Given the description of an element on the screen output the (x, y) to click on. 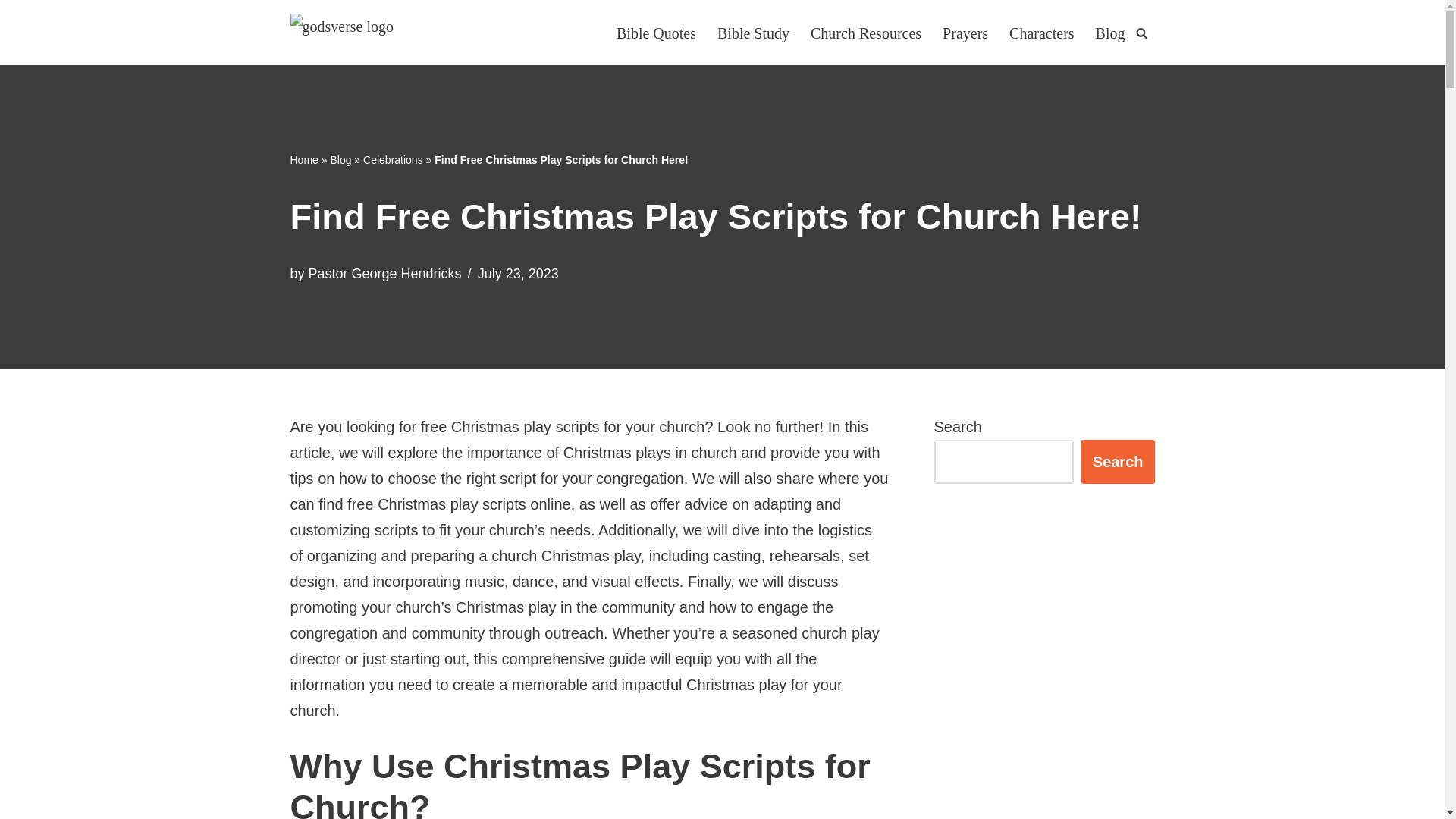
Blog (1110, 32)
Characters (1041, 32)
Celebrations (392, 159)
Prayers (965, 32)
Church Resources (865, 32)
Posts by Pastor George Hendricks (384, 273)
Bible Quotes (655, 32)
Pastor George Hendricks (384, 273)
Search (1117, 461)
Bible Study (753, 32)
